Given the description of an element on the screen output the (x, y) to click on. 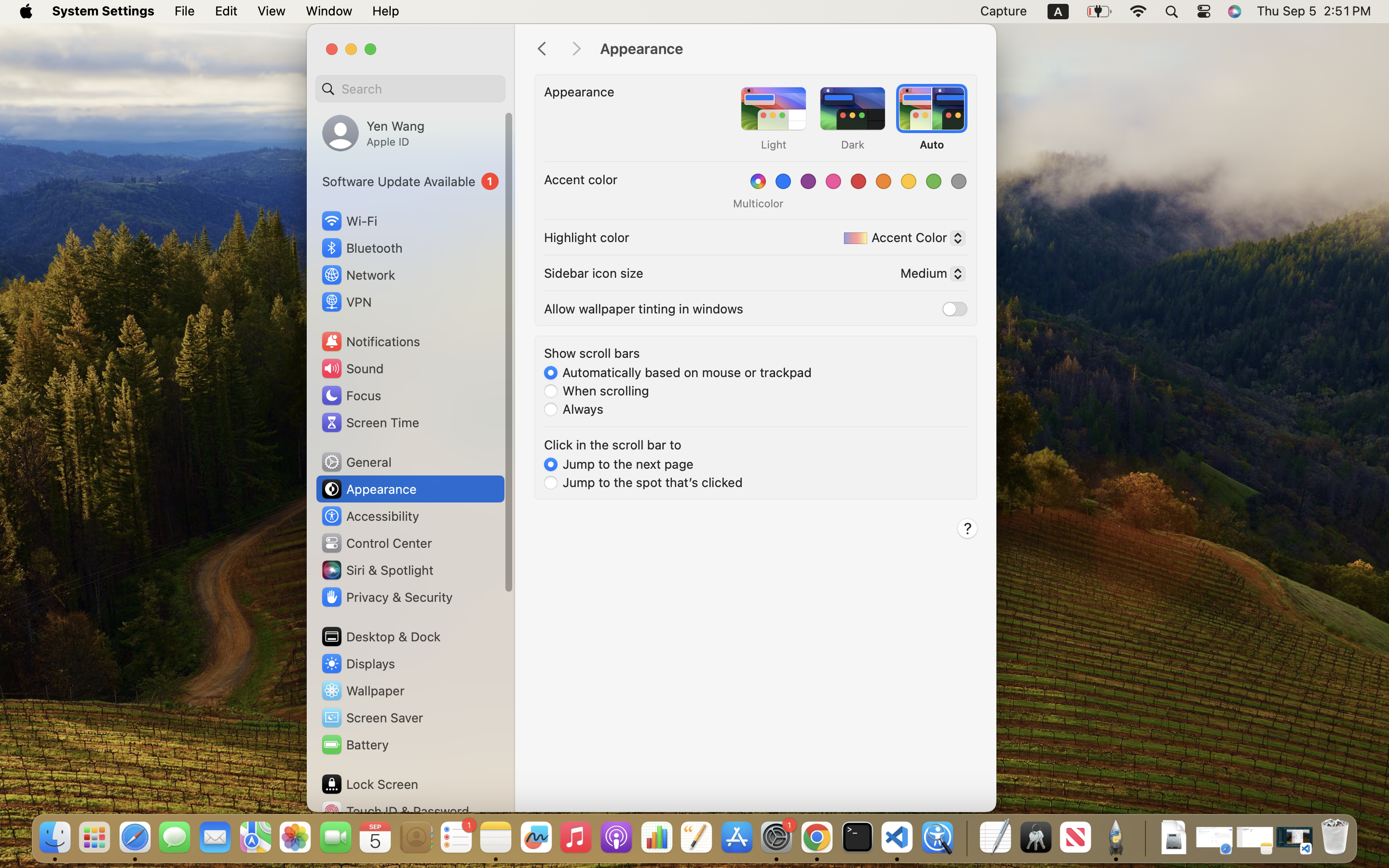
1 Element type: AXRadioButton (677, 371)
Bluetooth Element type: AXStaticText (361, 247)
Sound Element type: AXStaticText (351, 367)
1 Element type: AXStaticText (410, 180)
Screen Saver Element type: AXStaticText (371, 717)
